Given the description of an element on the screen output the (x, y) to click on. 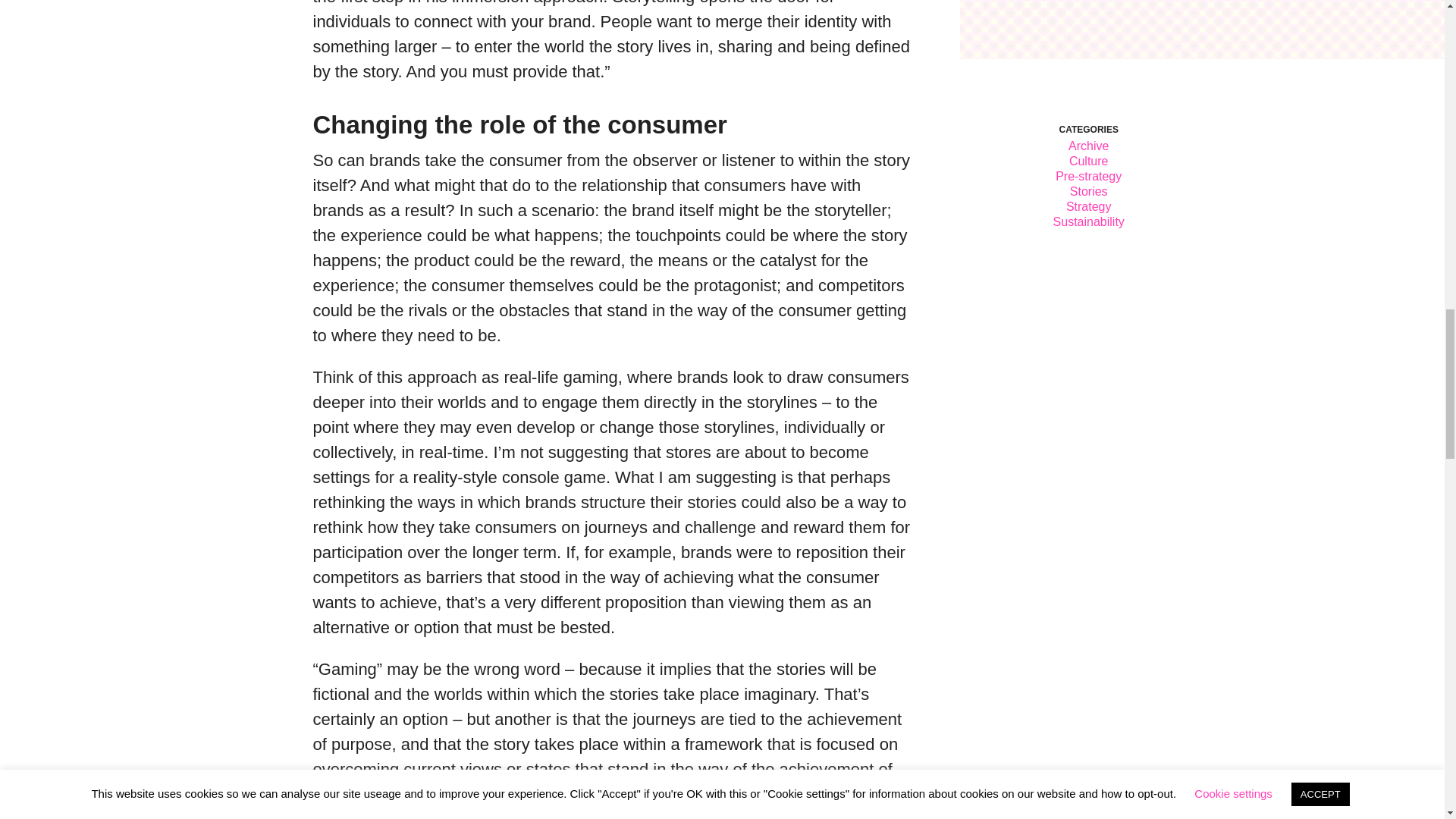
Archive (1088, 145)
Pre-strategy (1088, 175)
Strategy (1088, 205)
Sustainability (1088, 221)
Stories (1089, 191)
Culture (1088, 160)
